Given the description of an element on the screen output the (x, y) to click on. 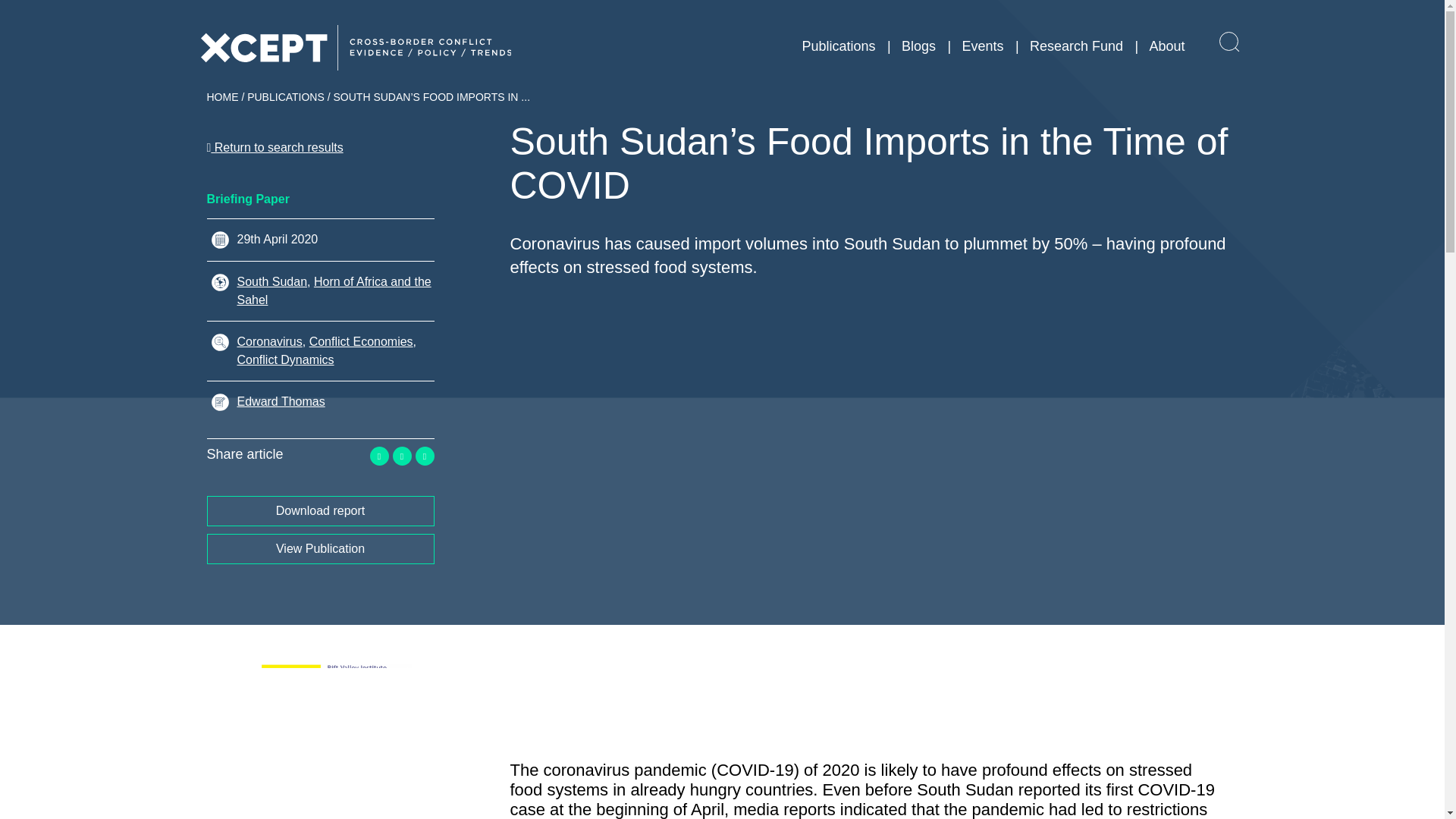
PUBLICATIONS (285, 96)
South Sudan (271, 281)
Research Fund (1075, 46)
HOME (222, 96)
About (1166, 46)
Blogs (918, 46)
Download report (319, 511)
Publications (838, 46)
Coronavirus (268, 341)
View Publication (319, 548)
